Given the description of an element on the screen output the (x, y) to click on. 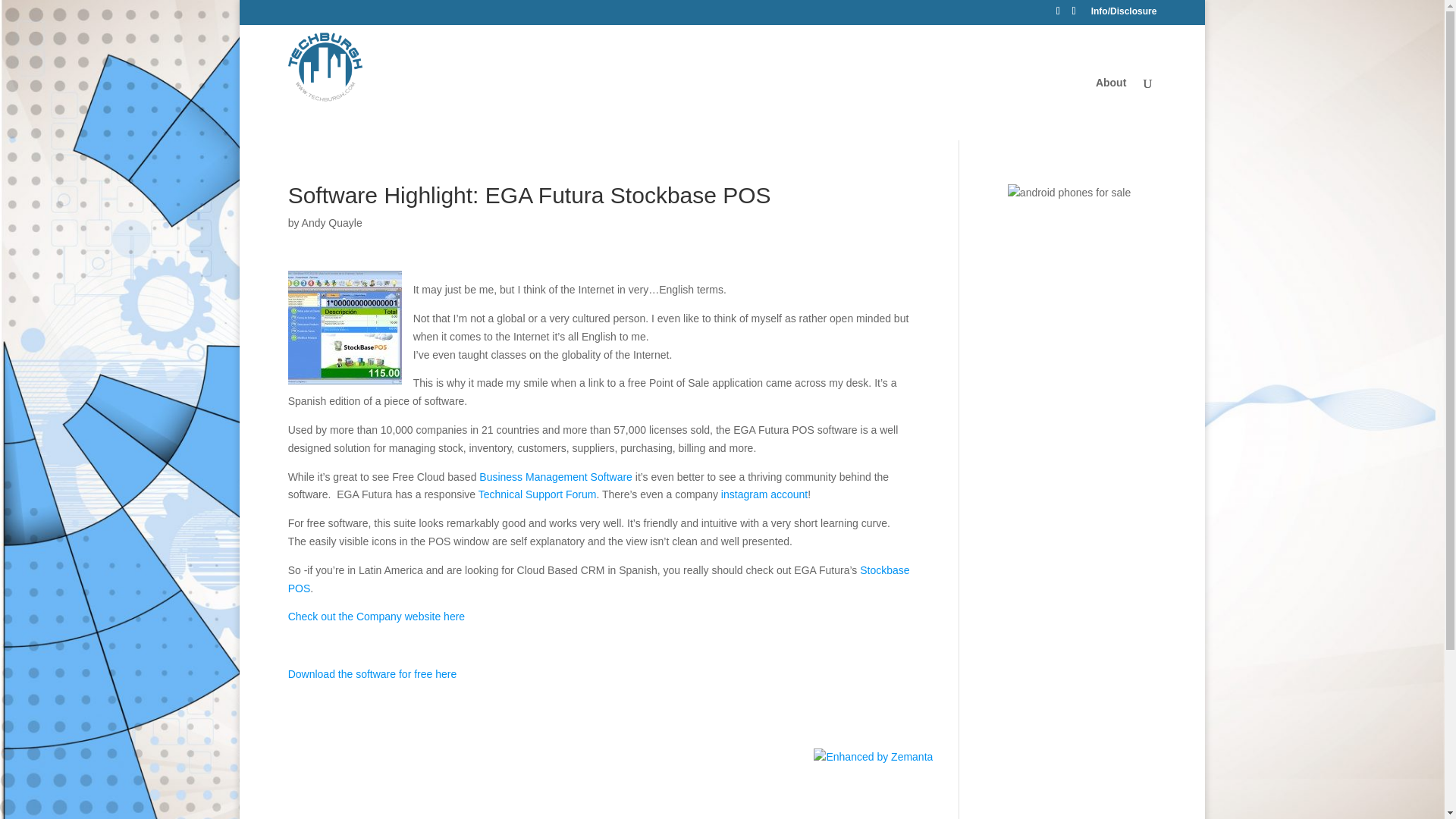
Clous based Business Management Software (555, 476)
EGA Futura Instagram (764, 494)
instagram account (764, 494)
Check out the Company website here (376, 616)
Business Management Software (555, 476)
Stockbase POS (599, 579)
Technical Support Forum (537, 494)
Posts by Andy Quayle (331, 223)
Download the software for free here (372, 674)
Andy Quayle (331, 223)
